Given the description of an element on the screen output the (x, y) to click on. 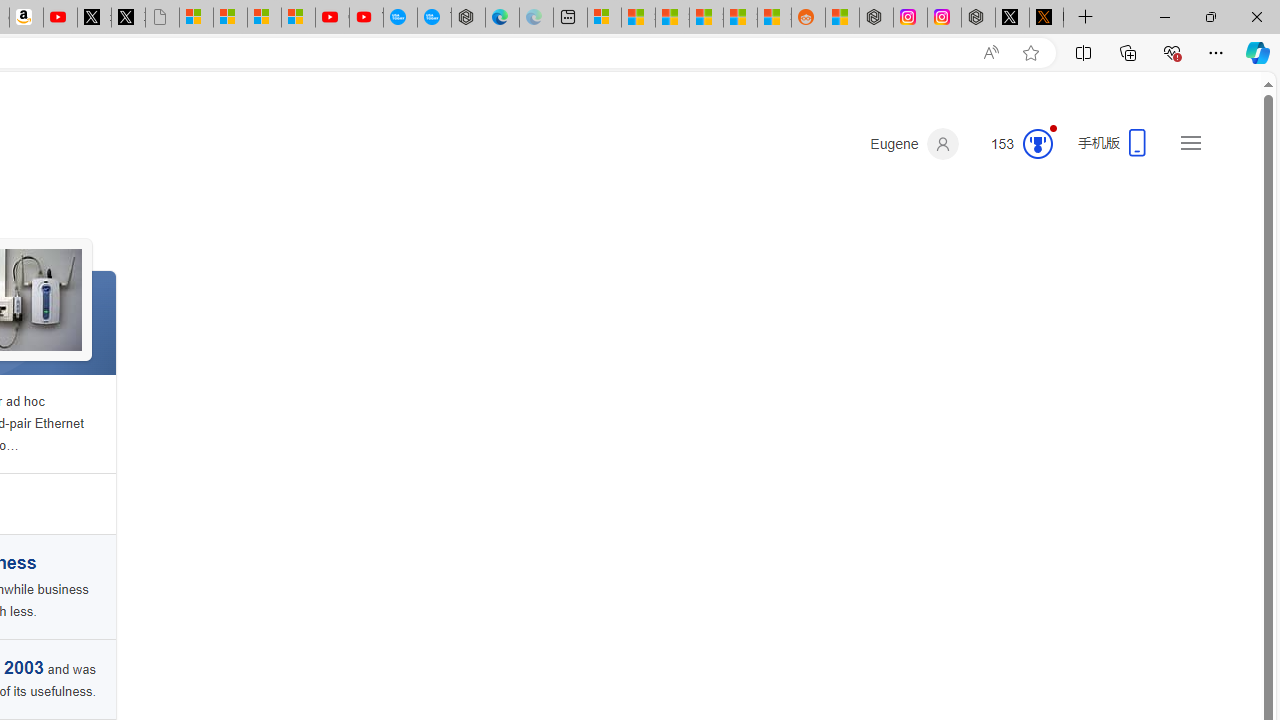
Shanghai, China hourly forecast | Microsoft Weather (671, 17)
Eugene (914, 143)
Day 1: Arriving in Yemen (surreal to be here) - YouTube (59, 17)
Nordace (@NordaceOfficial) / X (1012, 17)
help.x.com | 524: A timeout occurred (1046, 17)
